Given the description of an element on the screen output the (x, y) to click on. 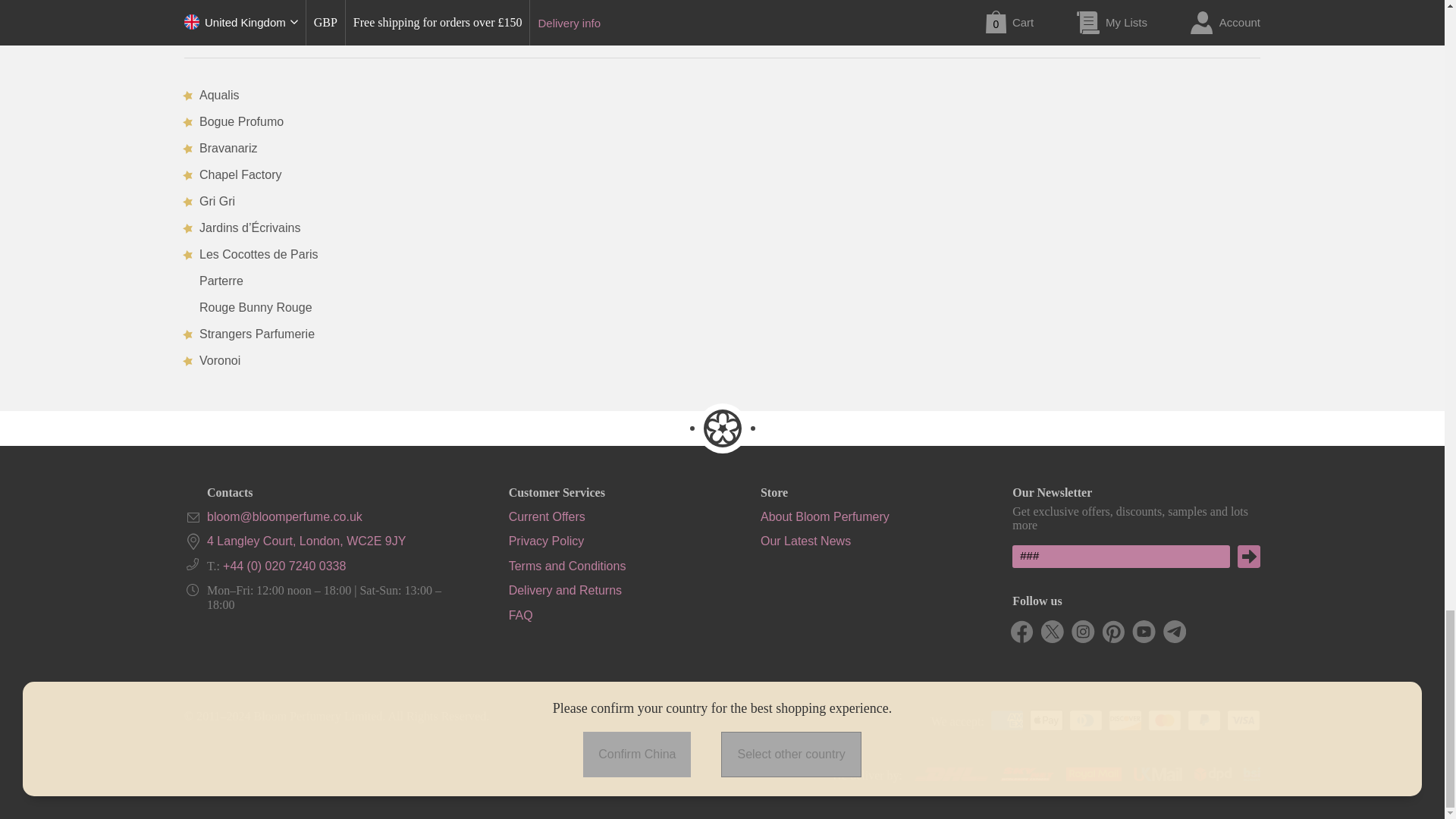
Diners Club (1085, 720)
American Express (1006, 720)
Mastercard (1164, 720)
Subscribe (1248, 556)
Apple Pay (1045, 720)
Discover (1124, 720)
Visa (1243, 720)
PayPal (1204, 720)
